Given the description of an element on the screen output the (x, y) to click on. 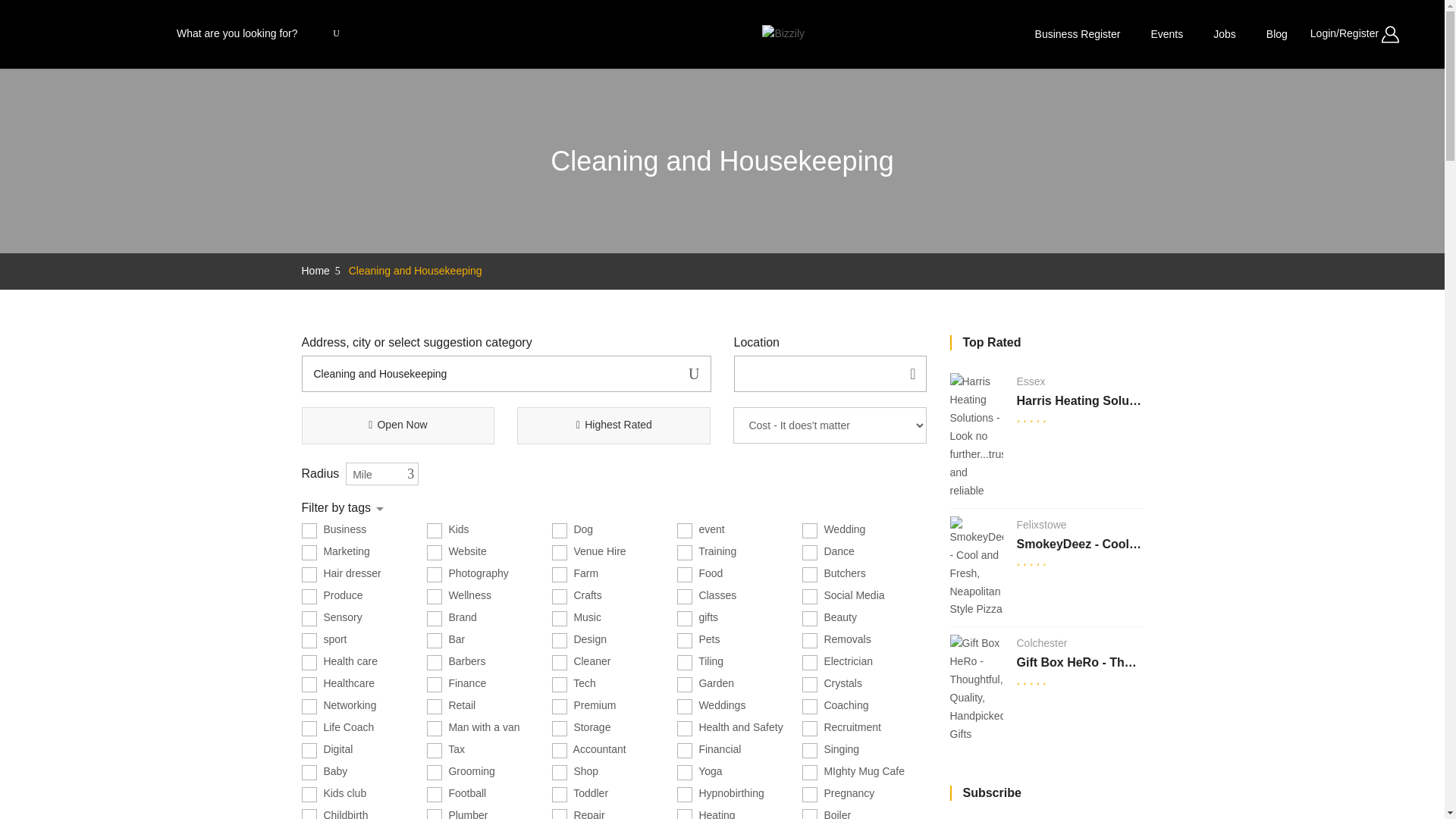
Cleaning and Housekeeping (506, 373)
Events (1166, 33)
Home (315, 270)
Business Register (1077, 33)
